Given the description of an element on the screen output the (x, y) to click on. 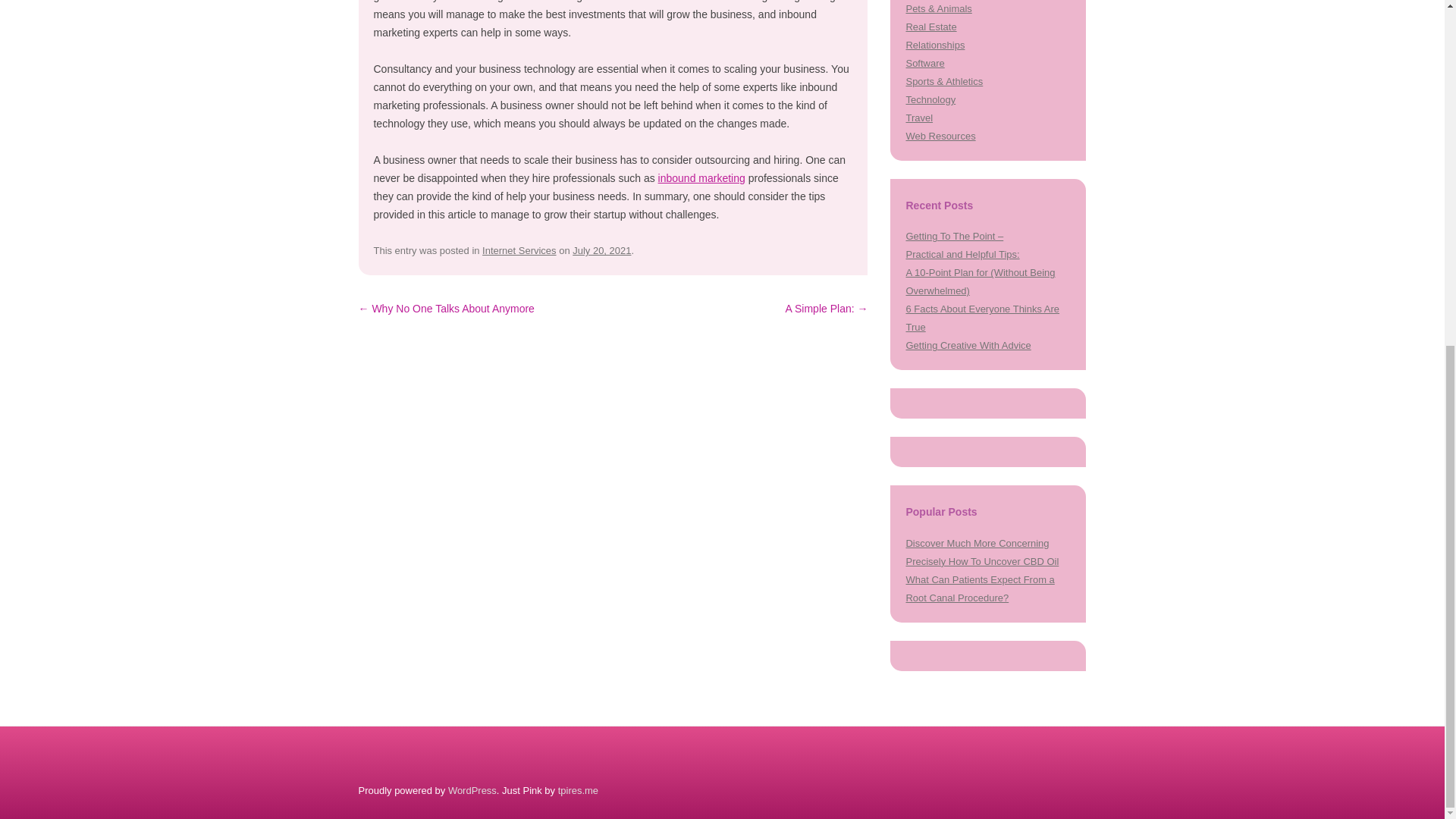
Semantic Personal Publishing Platform (472, 790)
July 20, 2021 (601, 250)
Real Estate (930, 26)
Internet Services (518, 250)
Travel (919, 117)
What Can Patients Expect From a Root Canal Procedure? (979, 588)
11:39 am (601, 250)
inbound marketing (701, 177)
Web Resources (940, 135)
Practical and Helpful Tips: (962, 254)
Relationships (934, 44)
Software (924, 62)
Technology (930, 99)
